Given the description of an element on the screen output the (x, y) to click on. 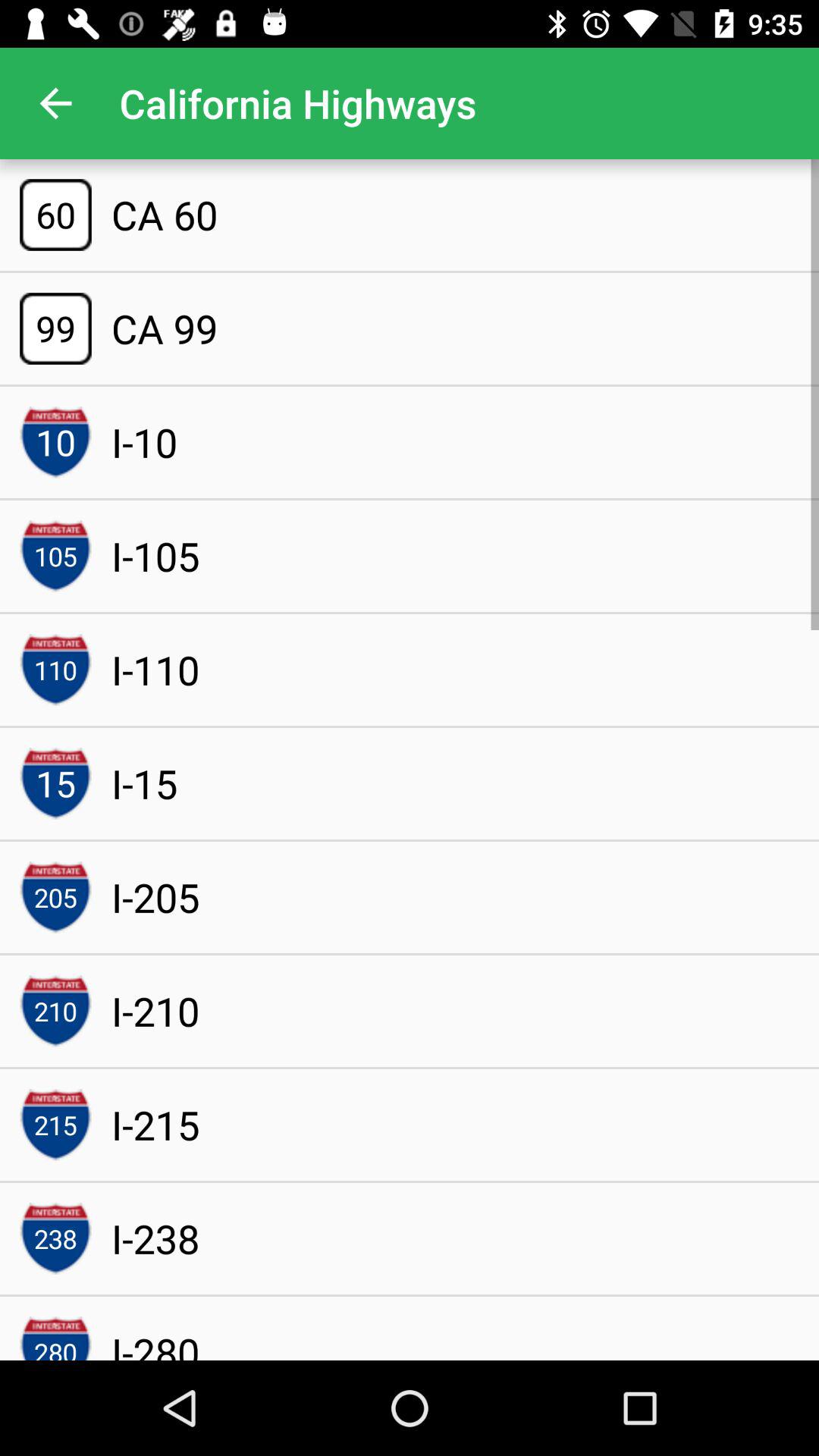
turn on the i-238 (155, 1238)
